Given the description of an element on the screen output the (x, y) to click on. 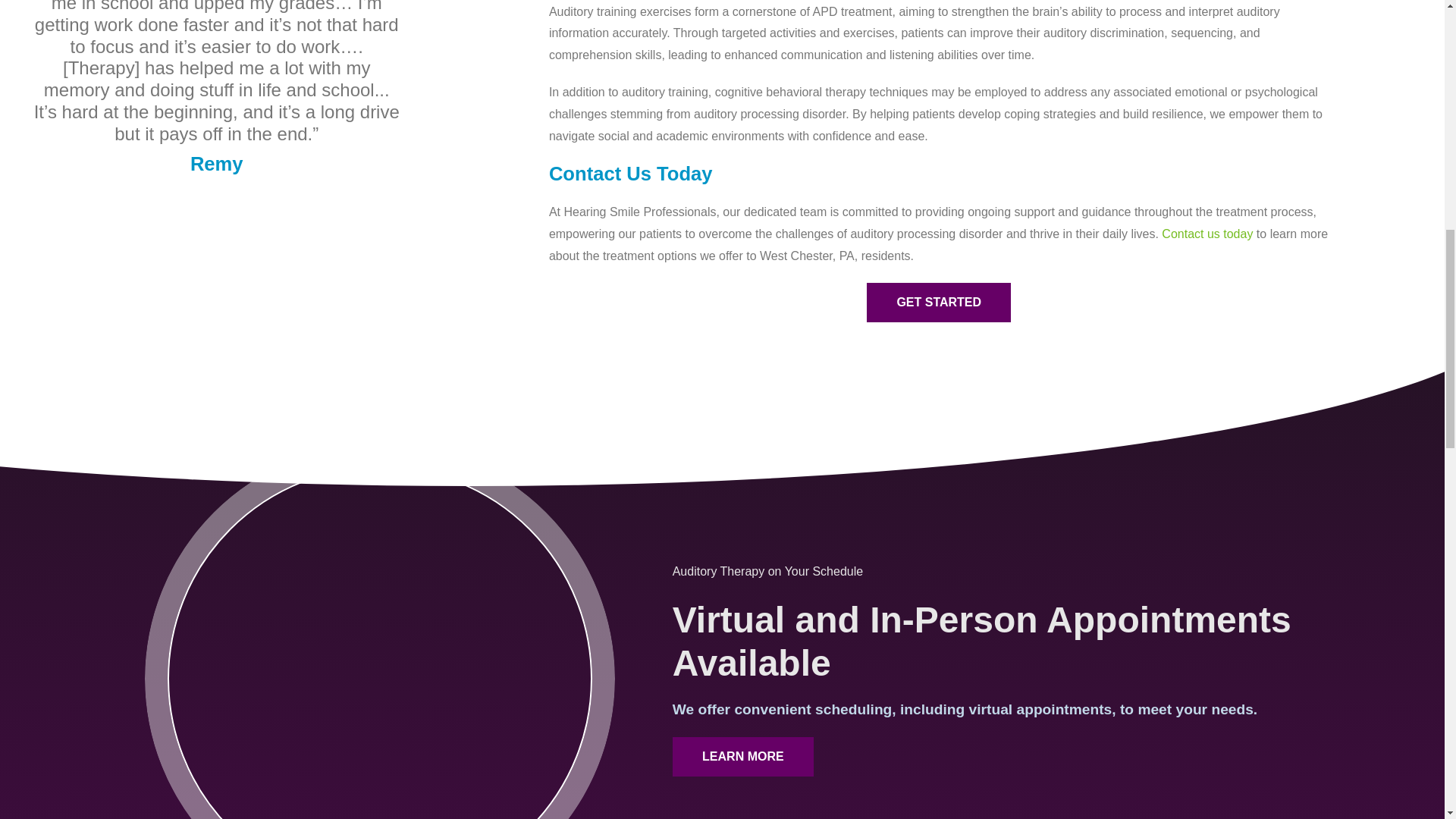
GET STARTED (938, 302)
Contact us today (1206, 233)
LEARN MORE (742, 756)
